Given the description of an element on the screen output the (x, y) to click on. 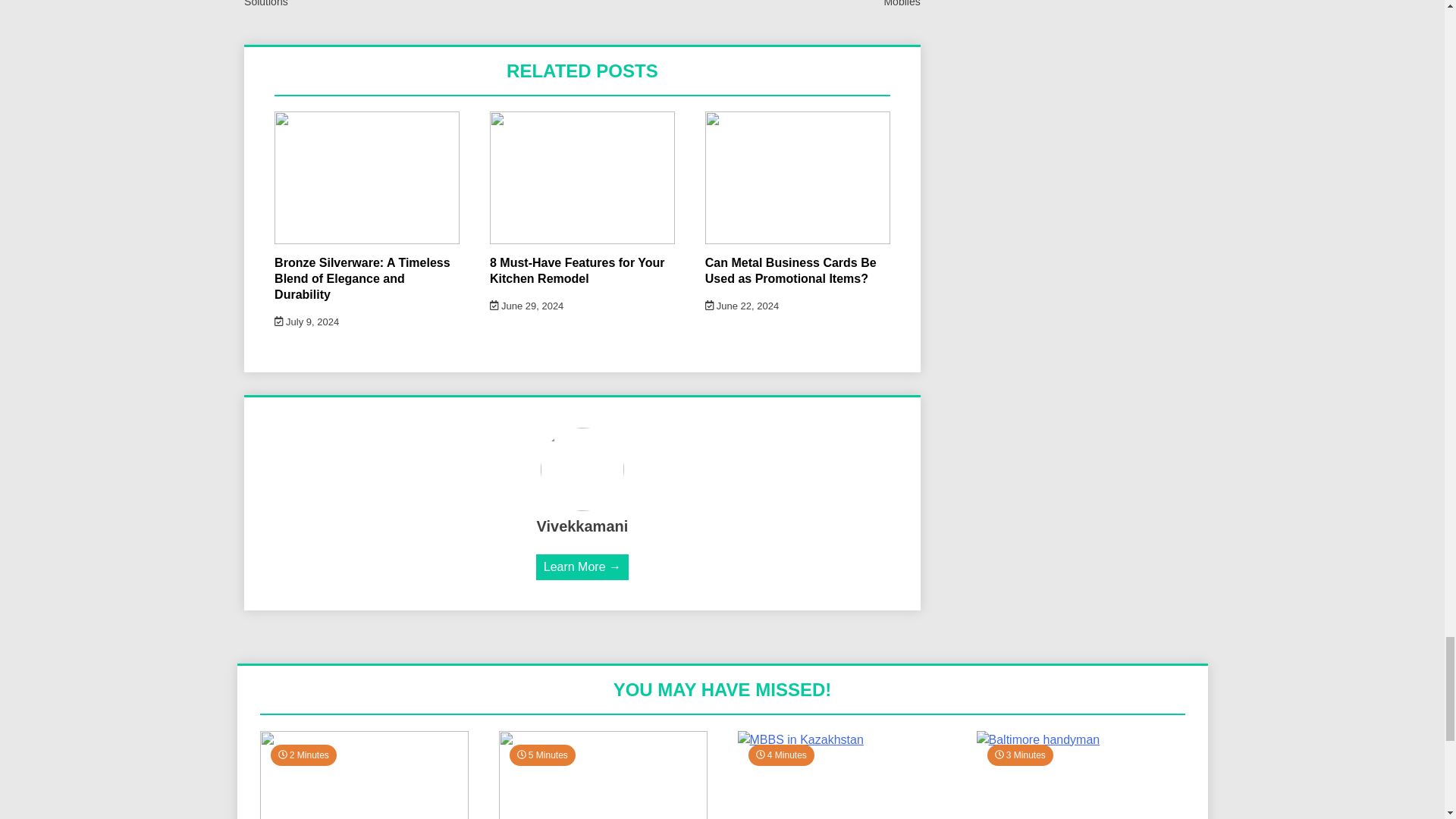
June 22, 2024 (741, 306)
Estimated Reading Time of Article (780, 754)
June 29, 2024 (526, 306)
Estimated Reading Time of Article (542, 754)
July 9, 2024 (307, 321)
Estimated Reading Time of Article (1019, 754)
Can Metal Business Cards Be Used as Promotional Items? (790, 270)
Estimated Reading Time of Article (302, 754)
8 Must-Have Features for Your Kitchen Remodel (577, 270)
